Given the description of an element on the screen output the (x, y) to click on. 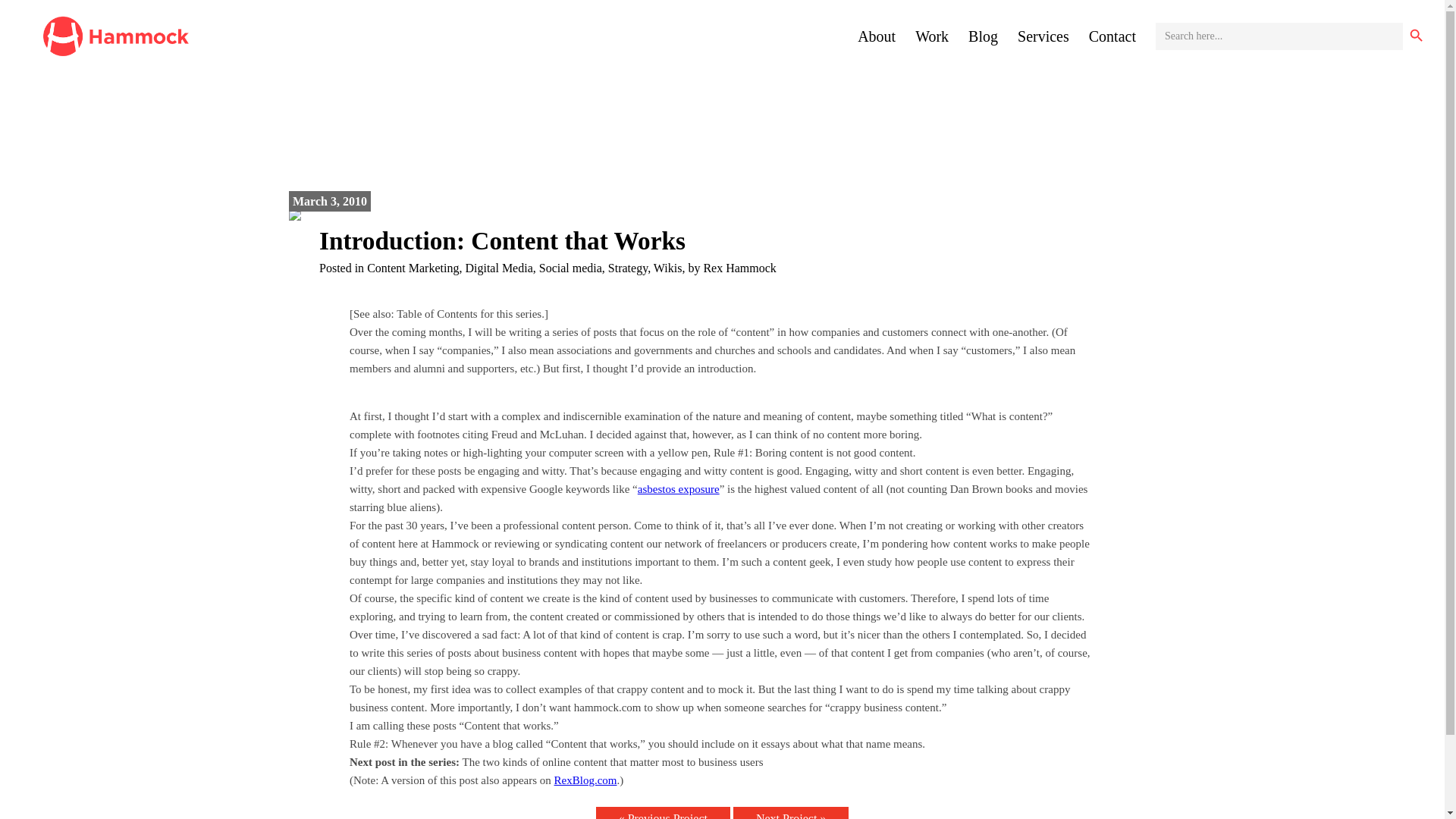
Strategy (627, 267)
Content Marketing (412, 267)
Digital Media (498, 267)
Search Button (1416, 35)
RexBlog.com (585, 779)
Wikis (667, 267)
asbestos exposure (678, 489)
Blog (982, 36)
Services (1042, 36)
About (876, 36)
